Given the description of an element on the screen output the (x, y) to click on. 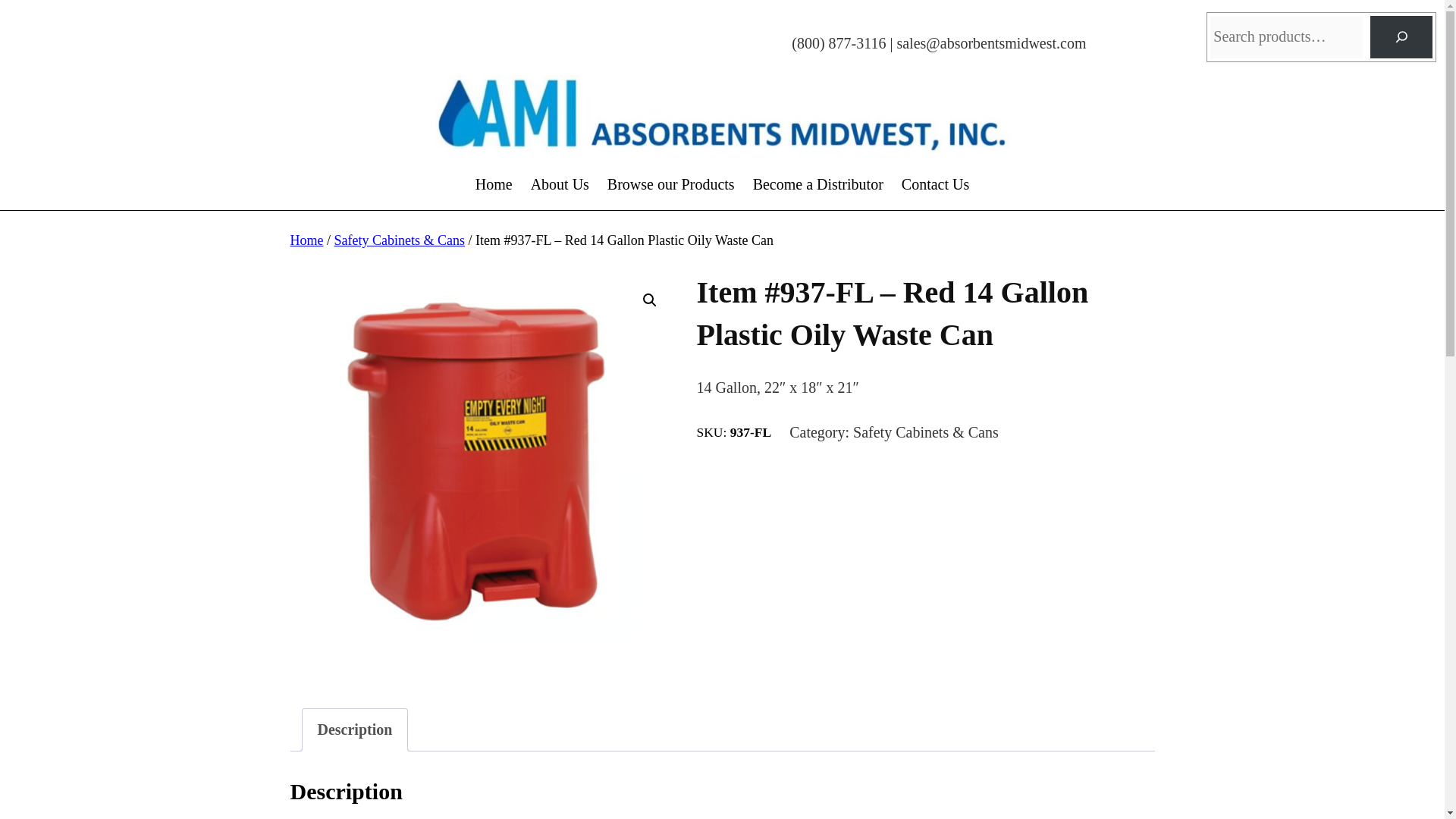
Description (354, 730)
Become a Distributor (817, 184)
Home (306, 240)
About Us (560, 184)
Home (494, 184)
Browse our Products (671, 184)
Contact Us (935, 184)
